Given the description of an element on the screen output the (x, y) to click on. 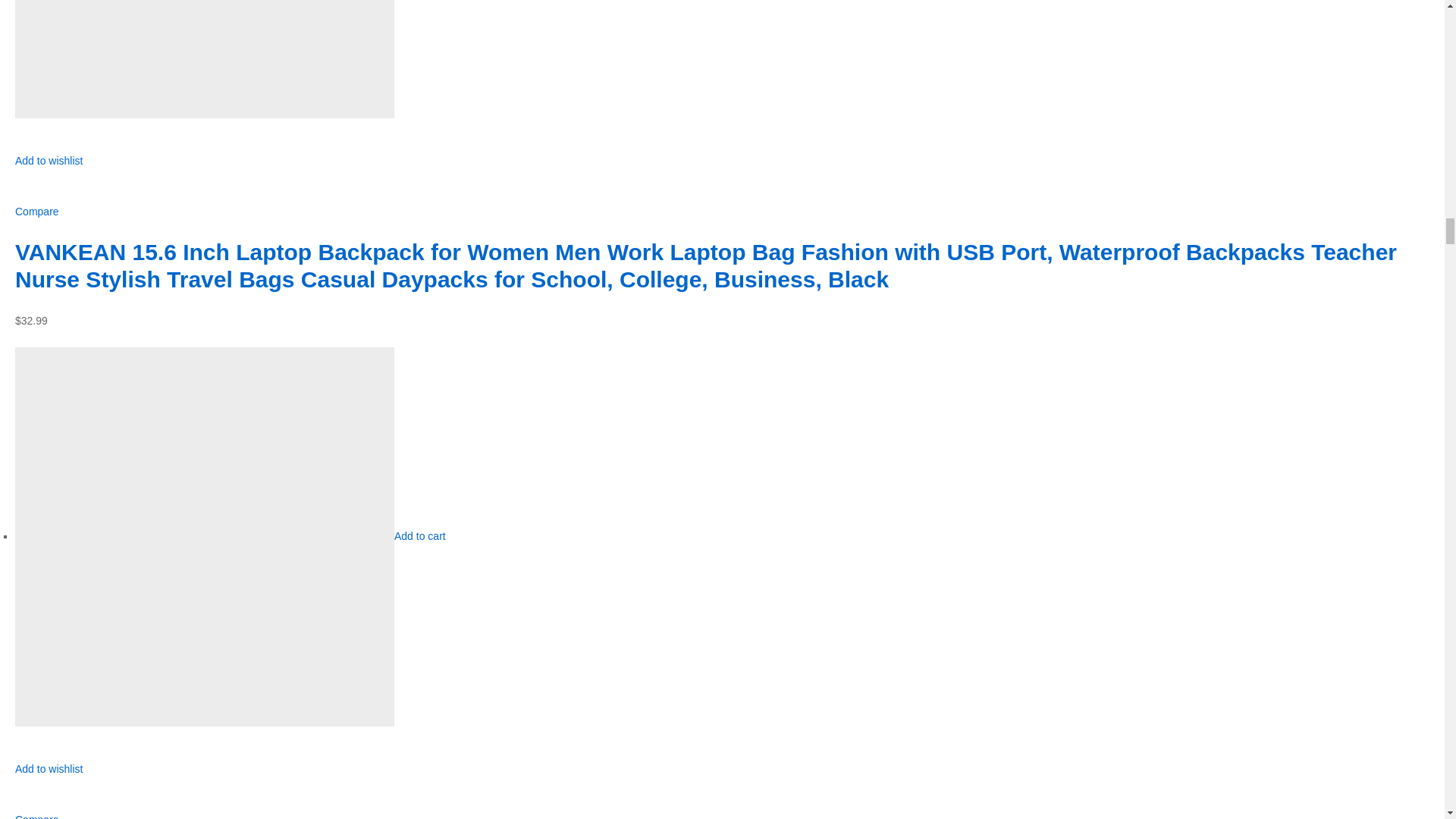
Add to wishlist (48, 168)
